Given the description of an element on the screen output the (x, y) to click on. 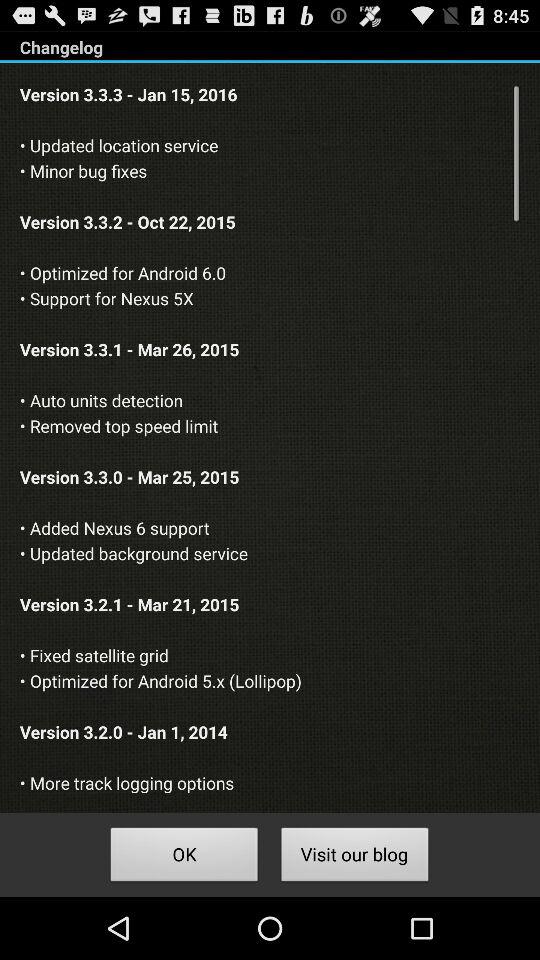
select the icon below the version 3 3 (184, 857)
